Given the description of an element on the screen output the (x, y) to click on. 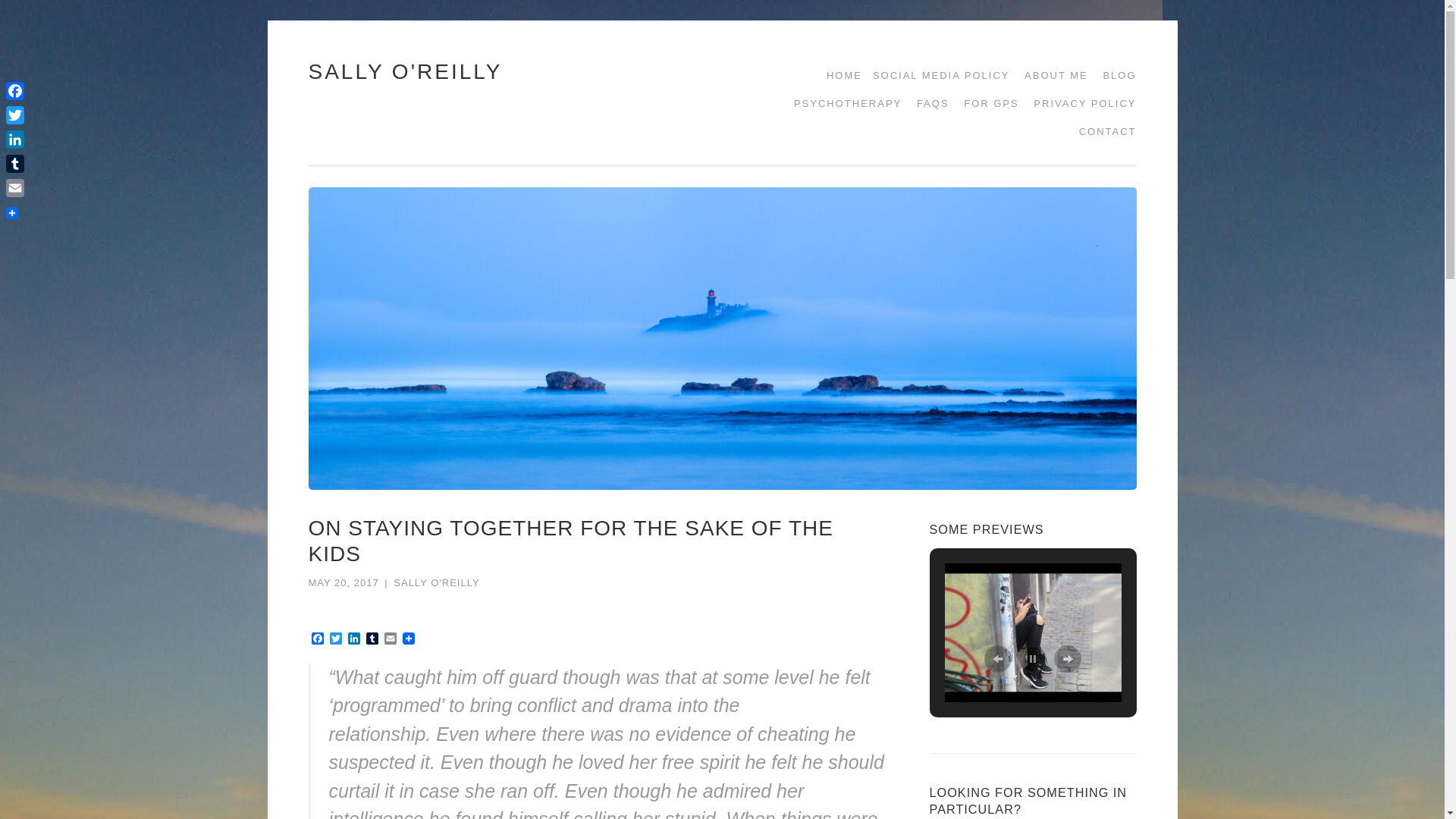
CONTACT (1102, 131)
Email (389, 639)
PSYCHOTHERAPY (842, 103)
HOME (838, 75)
Facebook (316, 639)
SALLY O'REILLY (404, 71)
MAY 20, 2017 (342, 582)
Facebook (316, 639)
FOR GPS (986, 103)
